Given the description of an element on the screen output the (x, y) to click on. 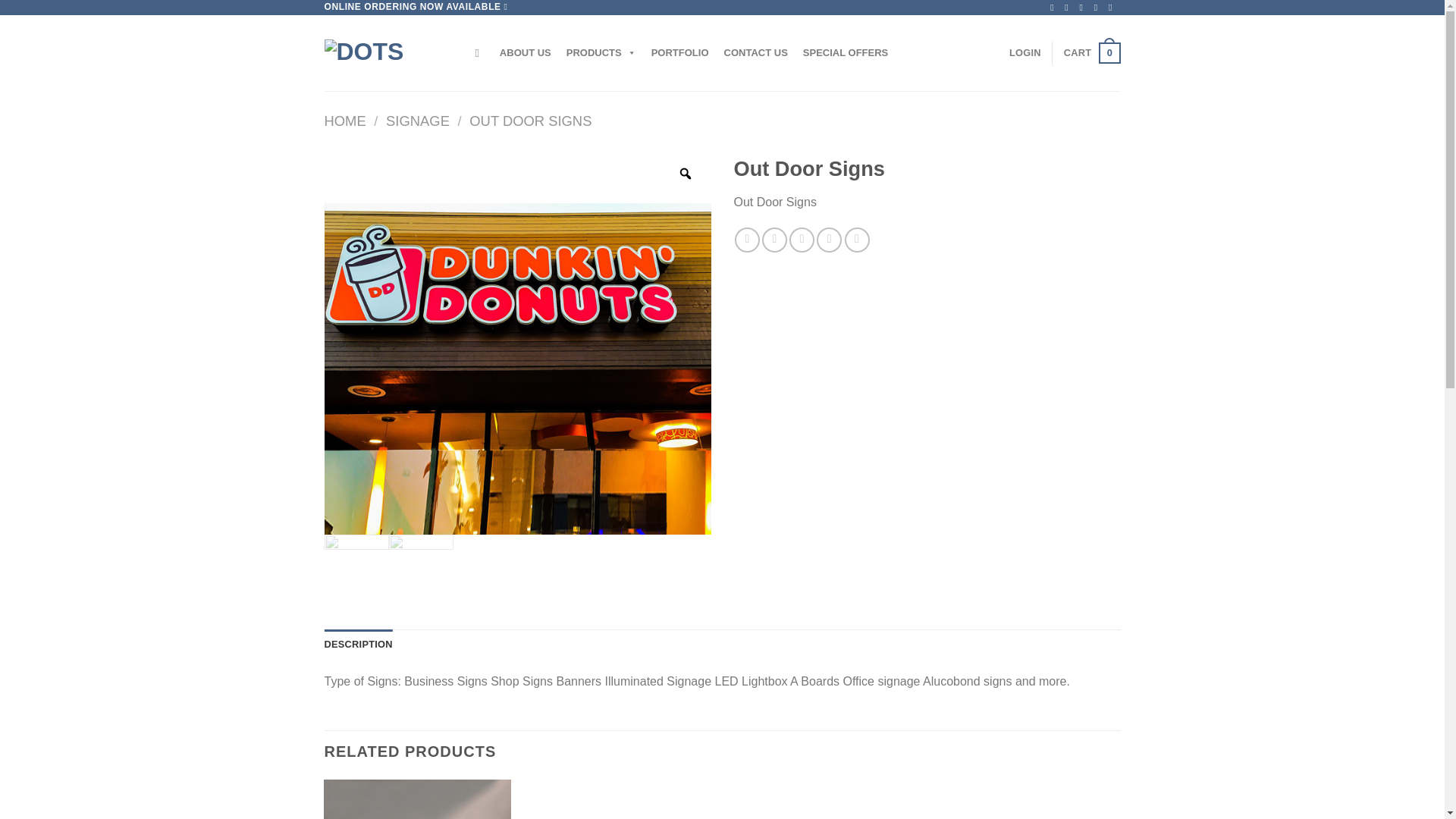
OUT DOOR SIGNS (1092, 52)
Dots pro - industrial advertising and printing (529, 120)
outdoorsign222 (388, 52)
Pin on Pinterest (601, 52)
Email to a Friend (828, 239)
CONTACT US (801, 239)
outdoor-sign11 (755, 52)
Cart (420, 566)
